Given the description of an element on the screen output the (x, y) to click on. 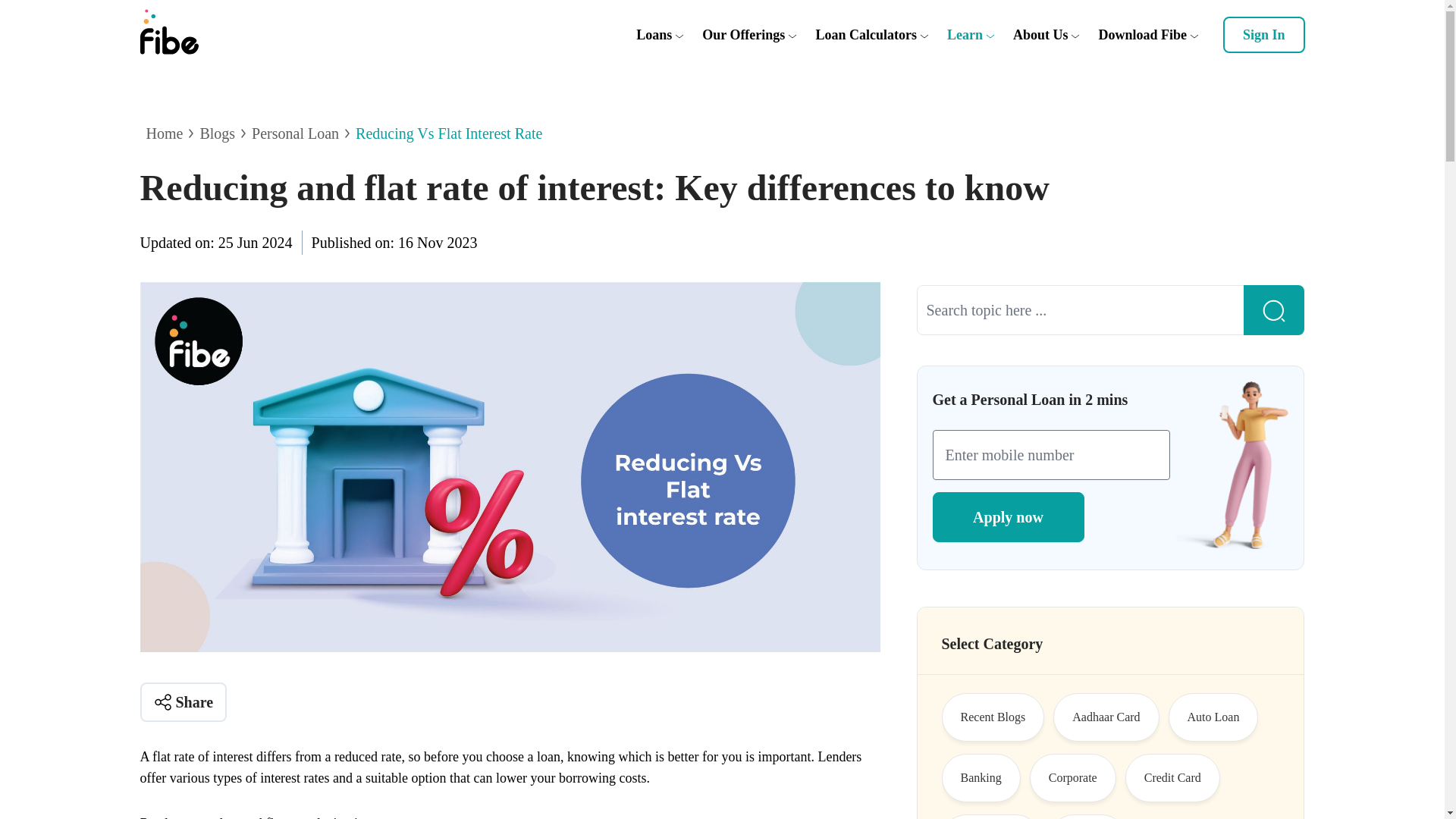
Personal Loan (295, 133)
Sign In (1263, 34)
Our Offerings (742, 34)
About Us (1040, 34)
Download Fibe (1141, 34)
Loan Calculators (866, 34)
Home (164, 133)
Blogs (217, 133)
